Given the description of an element on the screen output the (x, y) to click on. 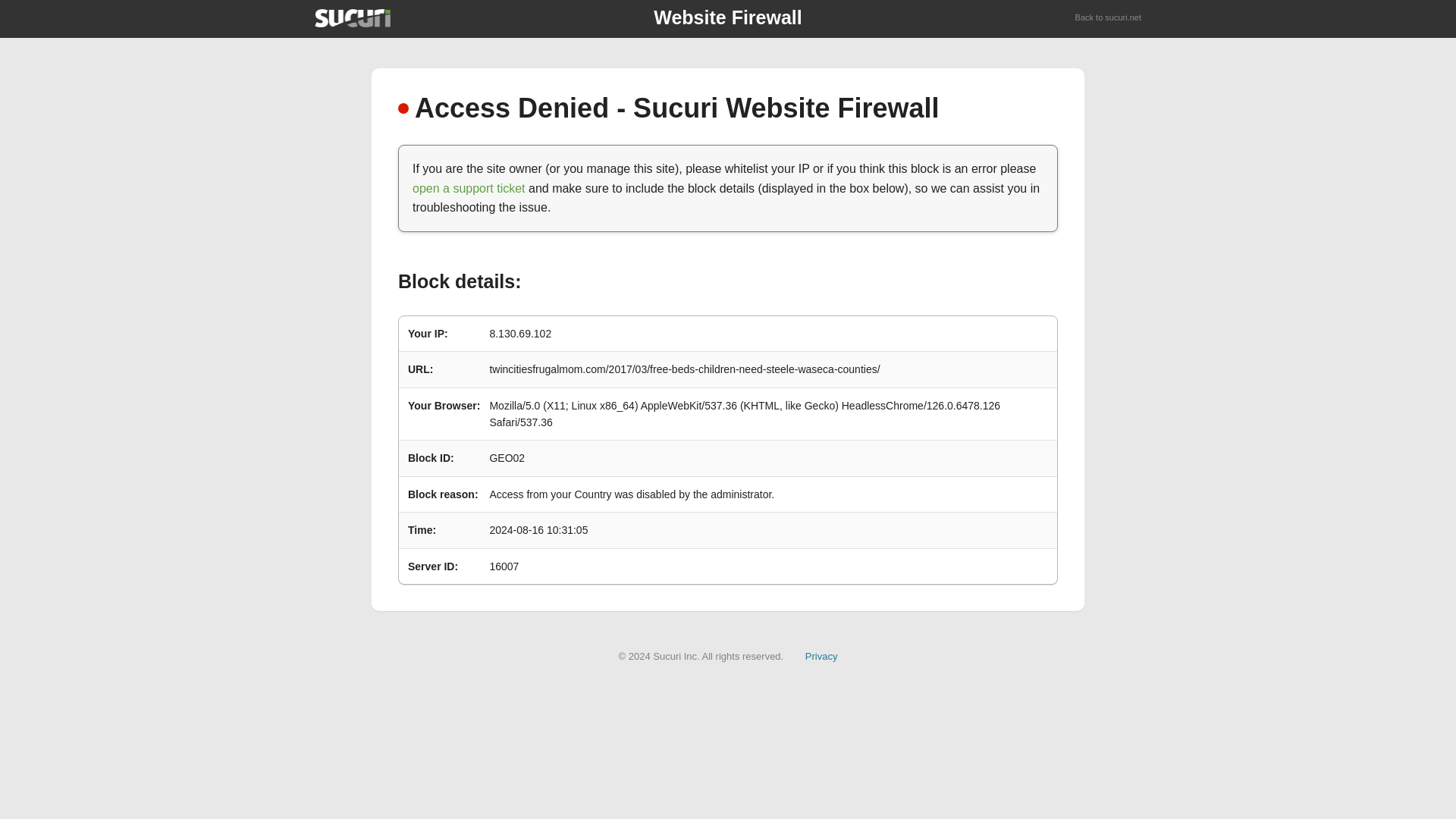
Privacy (821, 655)
open a support ticket (468, 187)
Back to sucuri.net (1108, 18)
